Given the description of an element on the screen output the (x, y) to click on. 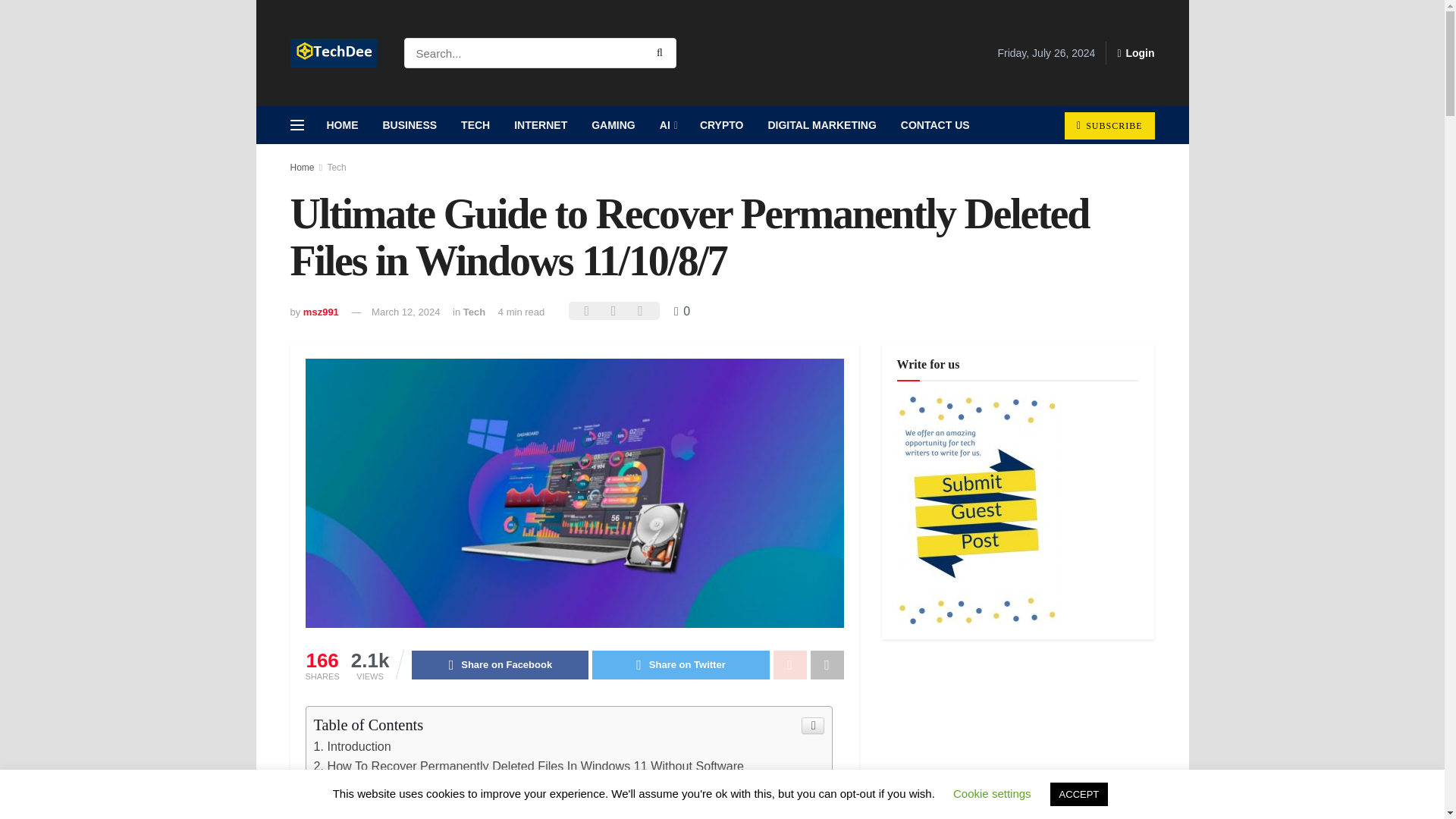
HOME (341, 125)
CRYPTO (721, 125)
CONTACT US (934, 125)
Tech (336, 167)
DIGITAL MARKETING (821, 125)
msz991 (320, 311)
SUBSCRIBE (1109, 125)
GAMING (613, 125)
Home (301, 167)
INTERNET (540, 125)
Introduction (352, 745)
TECH (475, 125)
Tech (473, 311)
BUSINESS (408, 125)
